Given the description of an element on the screen output the (x, y) to click on. 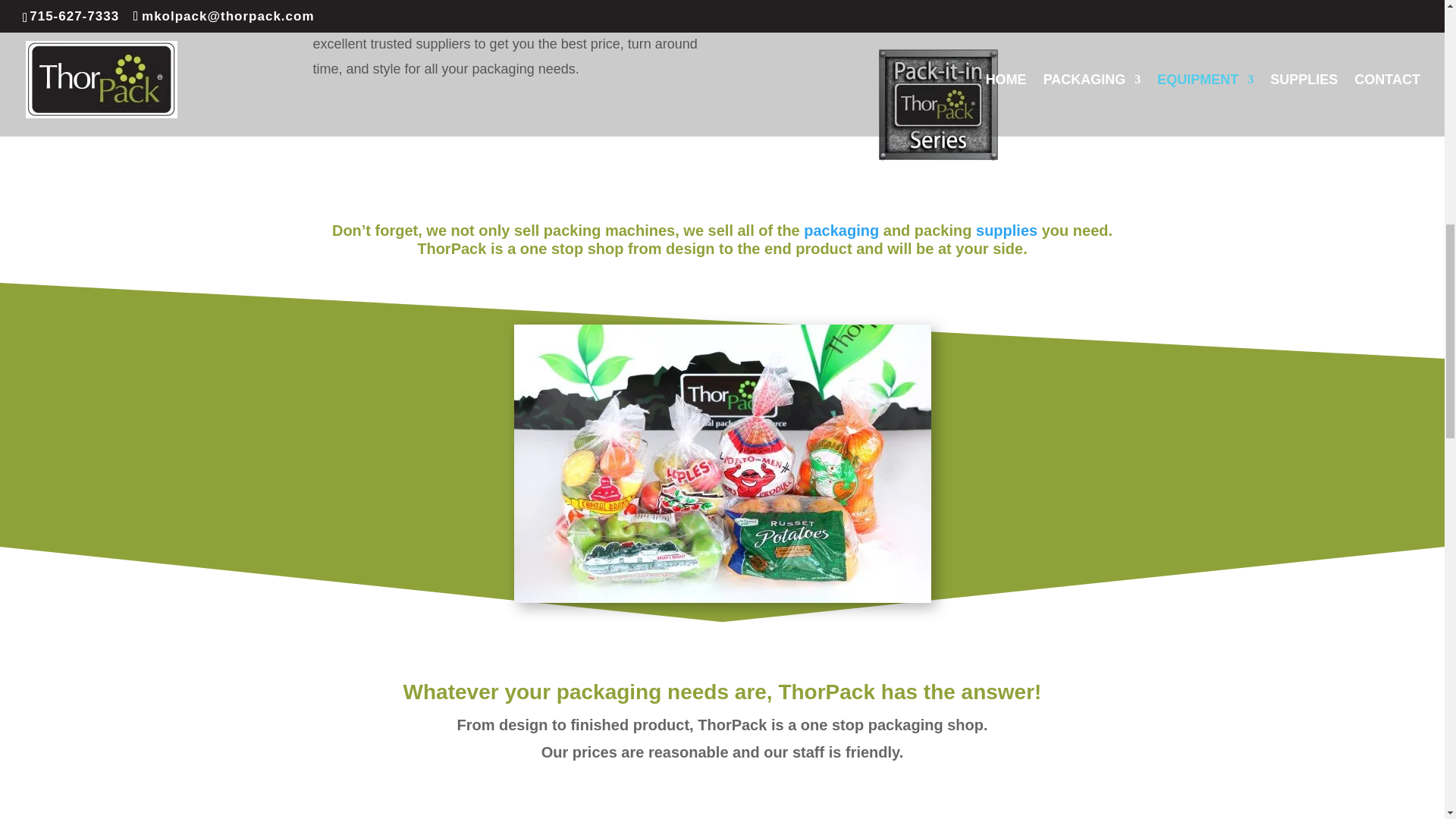
Pack-It-In Series (937, 104)
supplies (1005, 230)
packaging (841, 230)
poly-bags-ThorPack (722, 463)
Rucking Machine TP-2029R (937, 3)
